Given the description of an element on the screen output the (x, y) to click on. 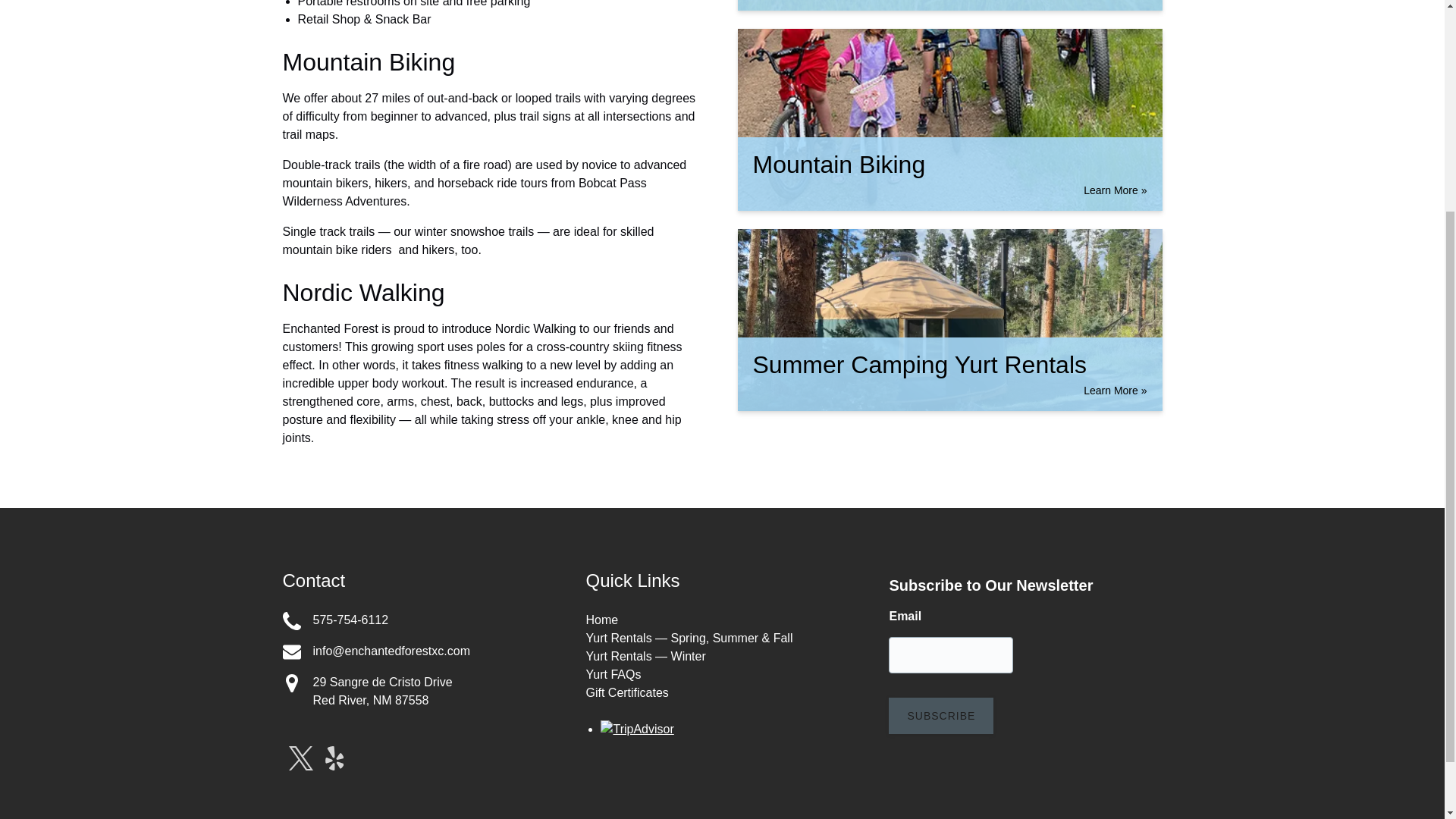
Subscribe (940, 715)
Envelope (418, 619)
Map Marker (290, 651)
Phone (290, 683)
